Given the description of an element on the screen output the (x, y) to click on. 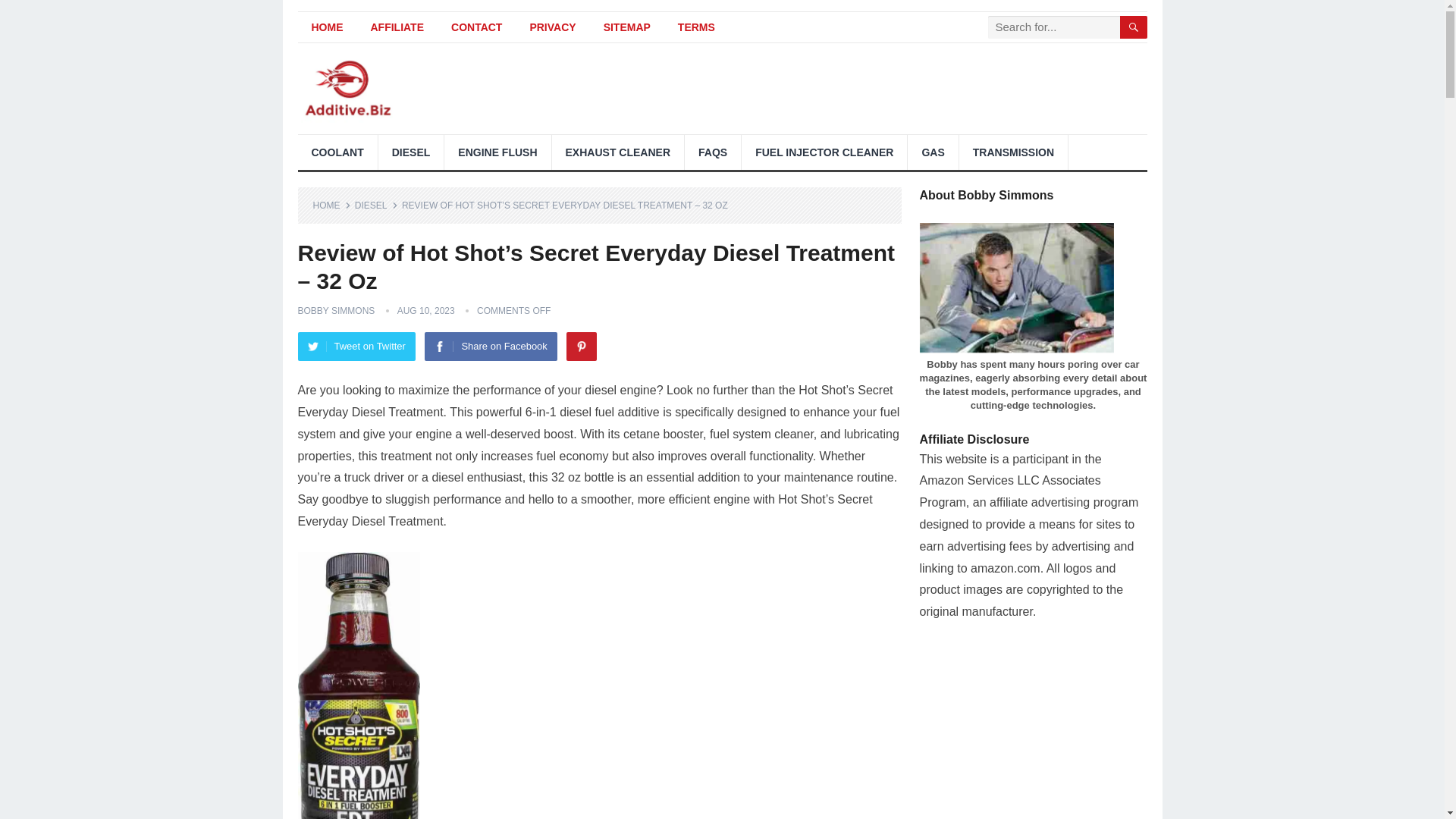
PRIVACY (552, 27)
ENGINE FLUSH (497, 152)
HOME (331, 204)
DIESEL (411, 152)
Posts by Bobby Simmons (335, 310)
Share on Facebook (490, 346)
Tweet on Twitter (355, 346)
TRANSMISSION (1013, 152)
FAQS (712, 152)
Pinterest (581, 346)
CONTACT (476, 27)
COOLANT (337, 152)
FUEL INJECTOR CLEANER (824, 152)
HOME (326, 27)
SITEMAP (626, 27)
